Given the description of an element on the screen output the (x, y) to click on. 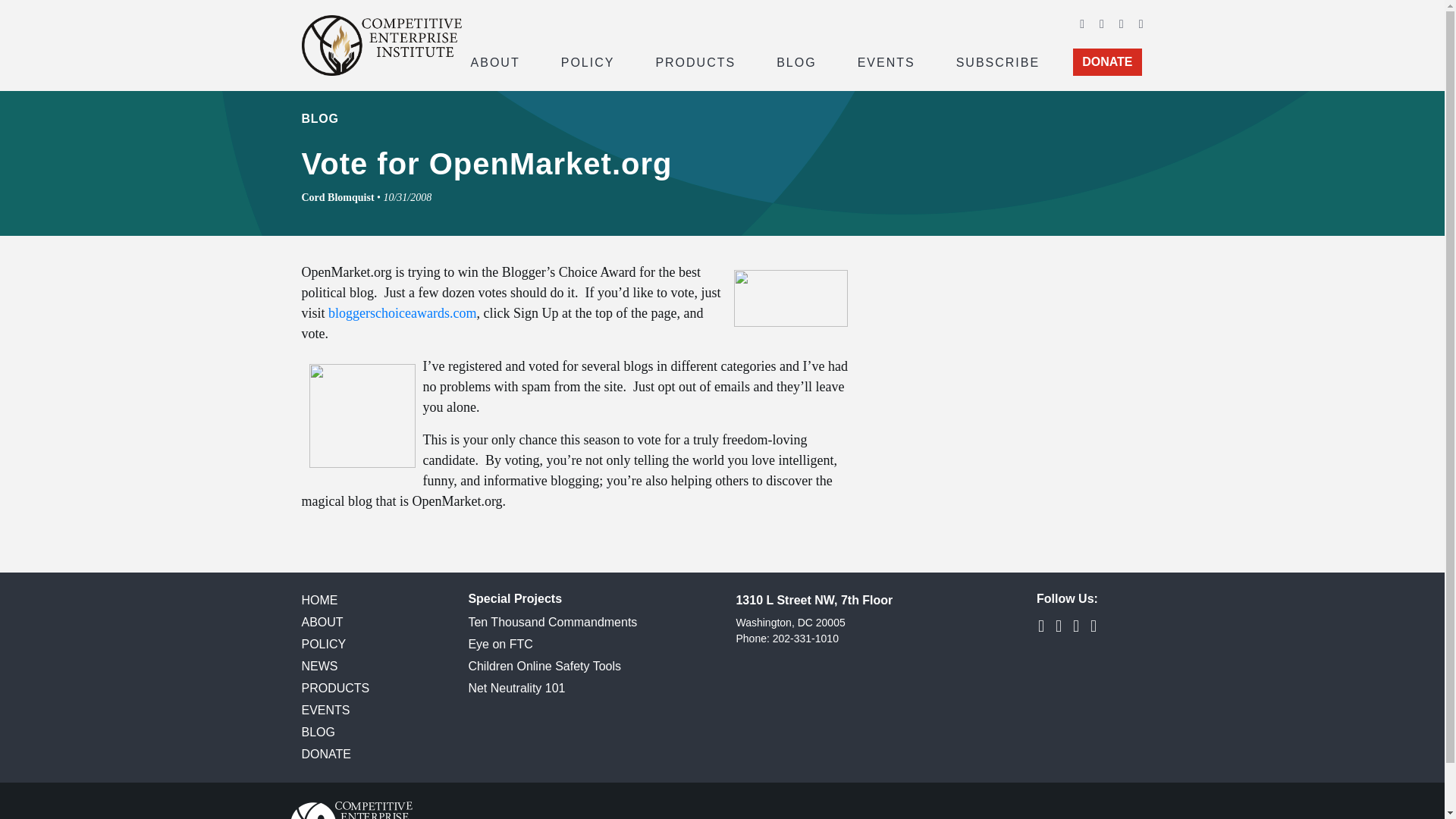
EVENTS (886, 61)
DONATE (1107, 62)
SUBSCRIBE (997, 61)
ABOUT (495, 61)
BLOG (796, 61)
PRODUCTS (694, 61)
POLICY (588, 61)
